Given the description of an element on the screen output the (x, y) to click on. 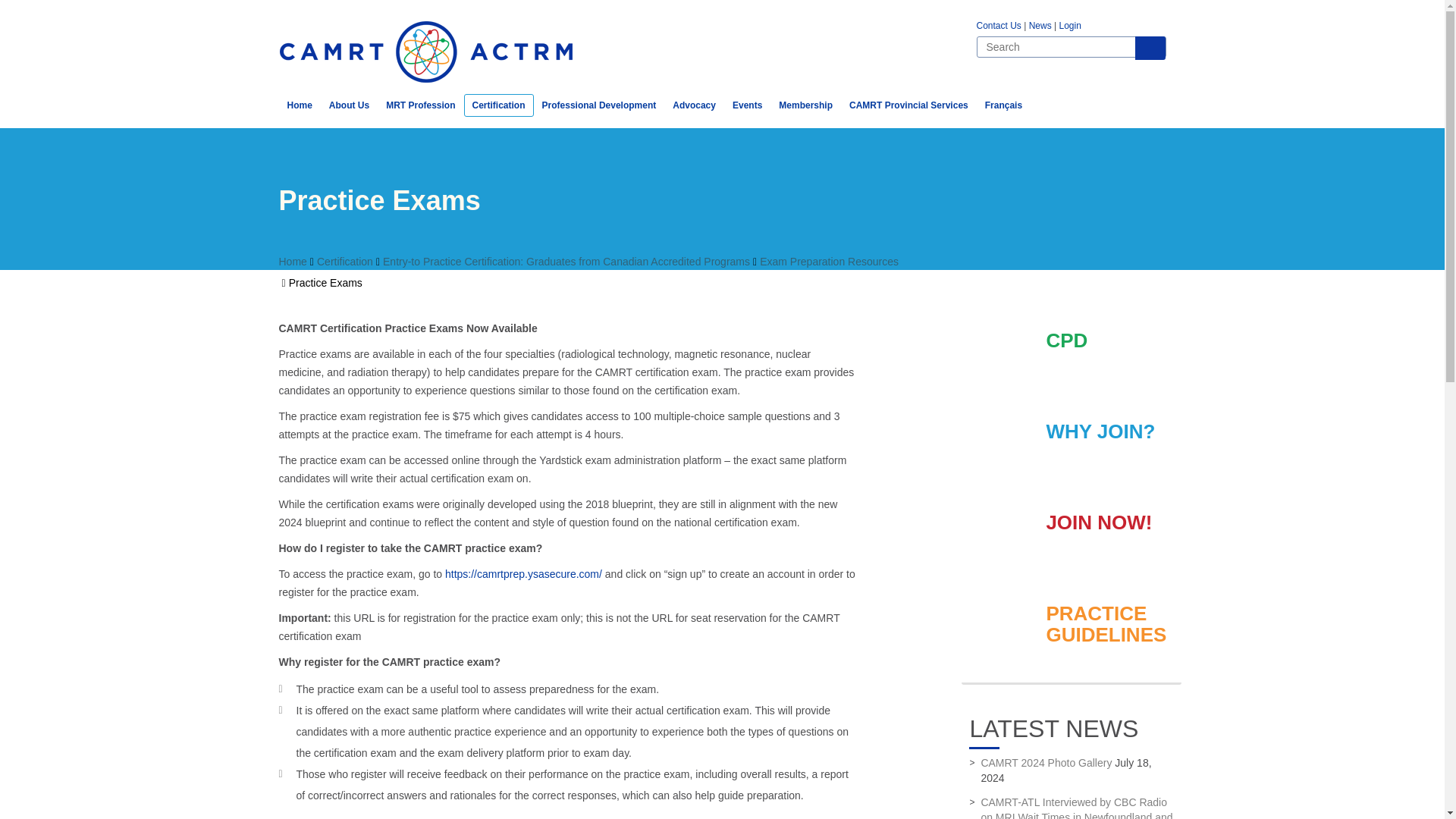
About Us (348, 105)
News (1040, 25)
Login (1069, 25)
Home (299, 105)
MRT Profession (420, 105)
Contact Us (999, 25)
Canadian Association of Medical Radiation Technologists (426, 51)
